Given the description of an element on the screen output the (x, y) to click on. 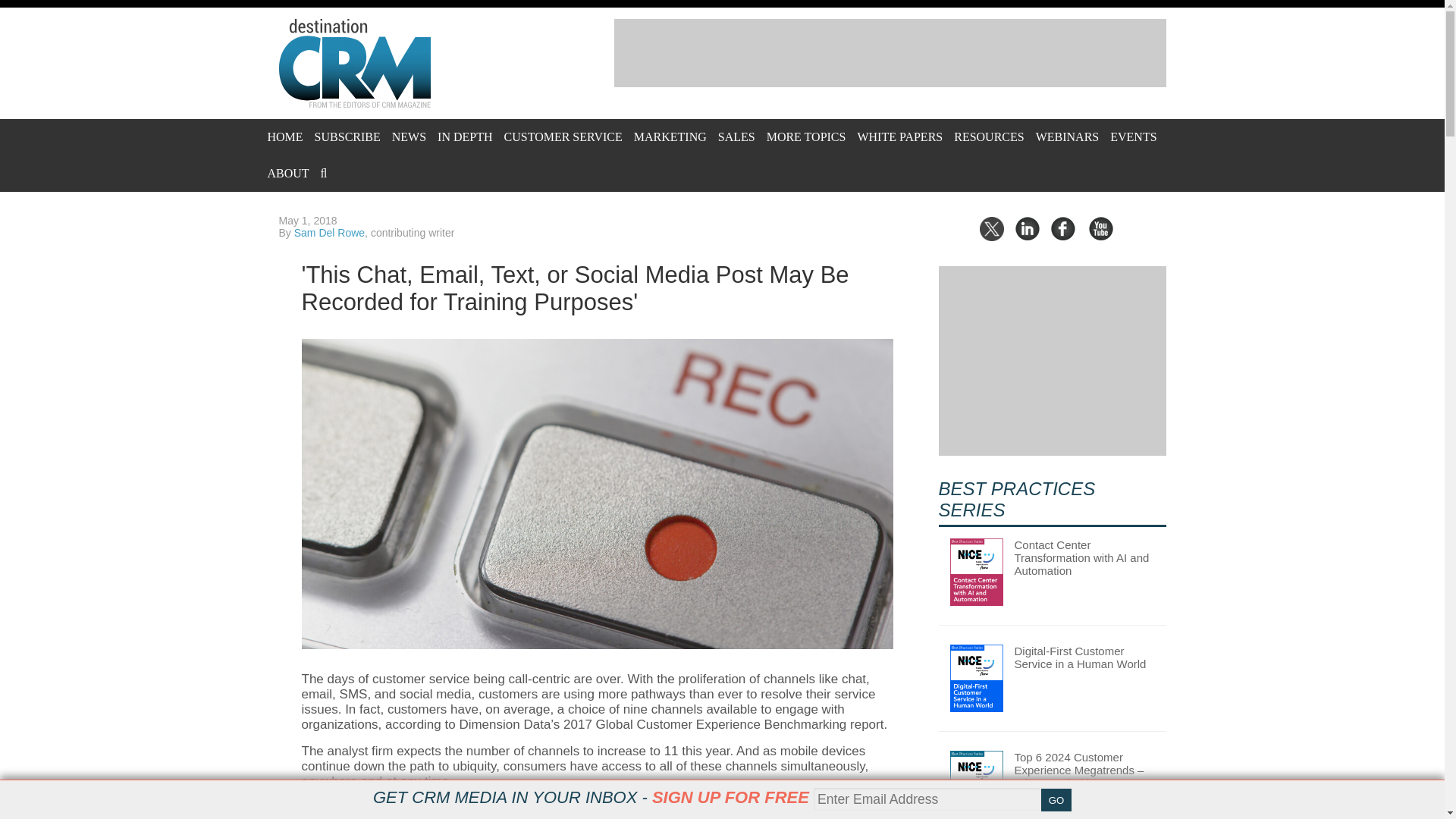
GO (1056, 799)
HOME (284, 136)
Marketing (669, 136)
WHITE PAPERS (899, 136)
RESOURCES (988, 136)
3rd party ad content (890, 52)
SALES (736, 136)
SUBSCRIBE (347, 136)
MORE TOPICS (806, 136)
Sales (736, 136)
